Given the description of an element on the screen output the (x, y) to click on. 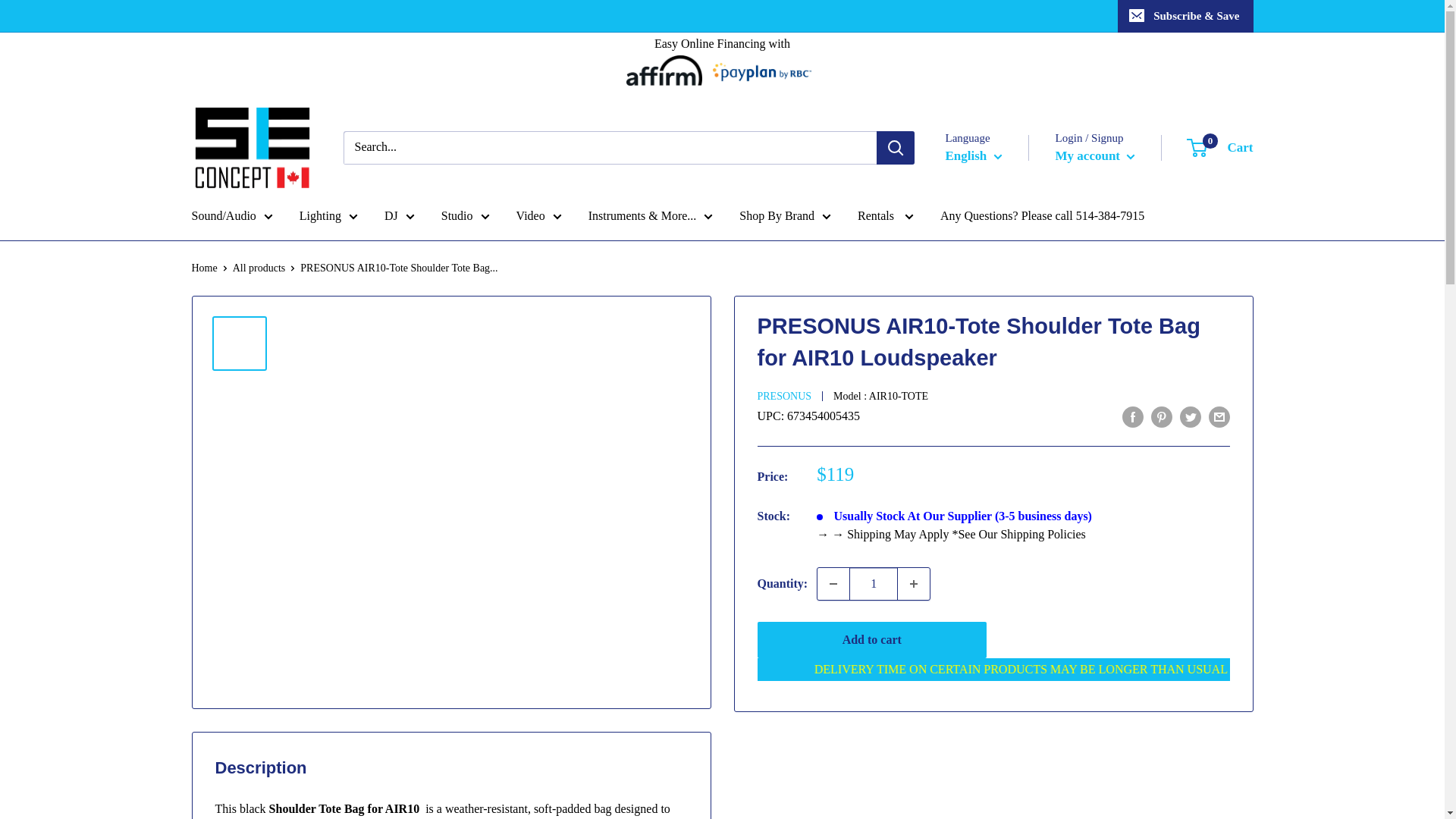
1 (873, 583)
Increase quantity by 1 (914, 583)
Decrease quantity by 1 (832, 583)
